Given the description of an element on the screen output the (x, y) to click on. 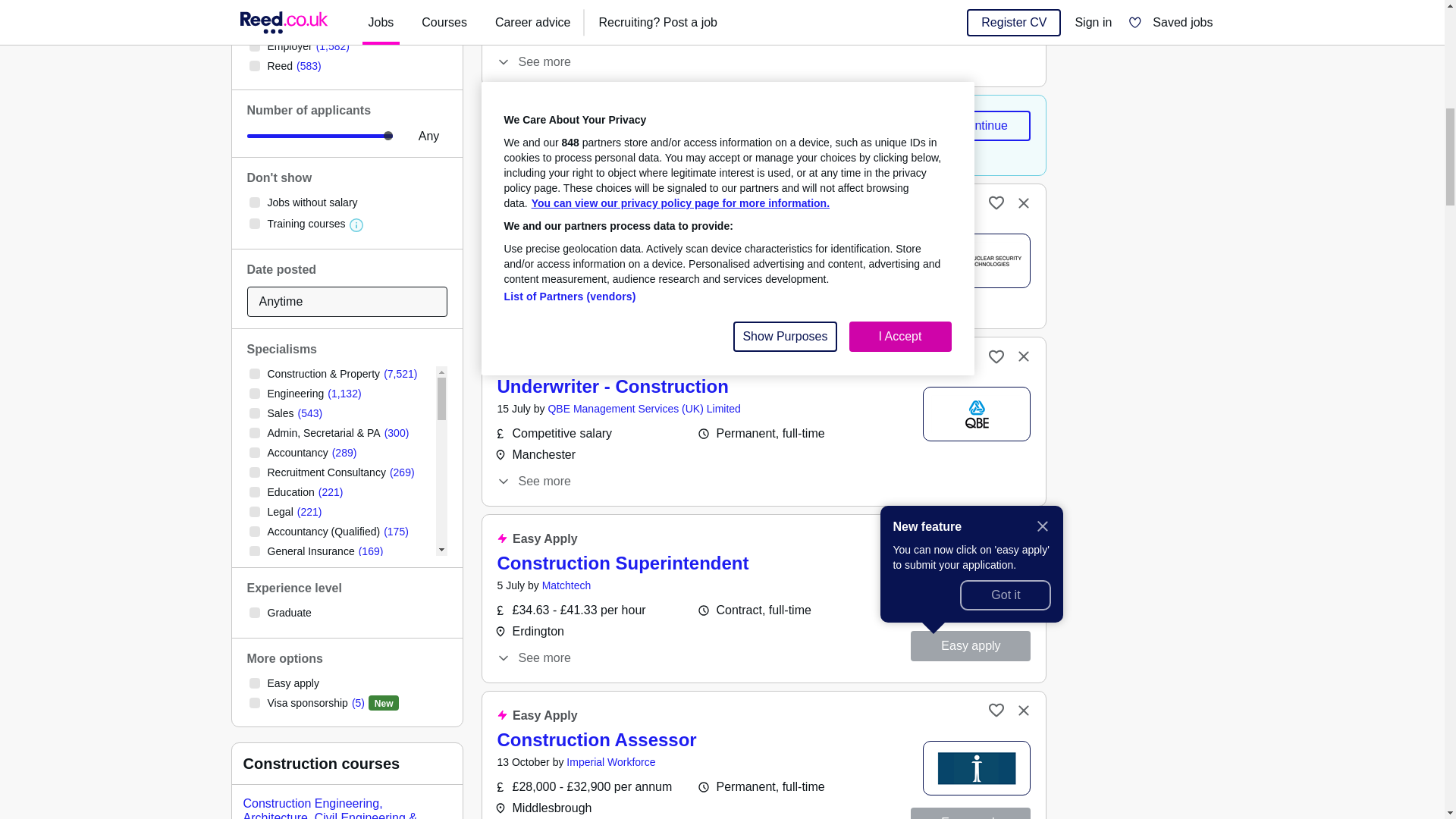
on (253, 202)
on (253, 412)
2 (320, 136)
on (253, 65)
on (253, 452)
on (253, 373)
on (253, 393)
on (253, 432)
on (253, 45)
on (253, 223)
on (253, 471)
on (253, 26)
